Given the description of an element on the screen output the (x, y) to click on. 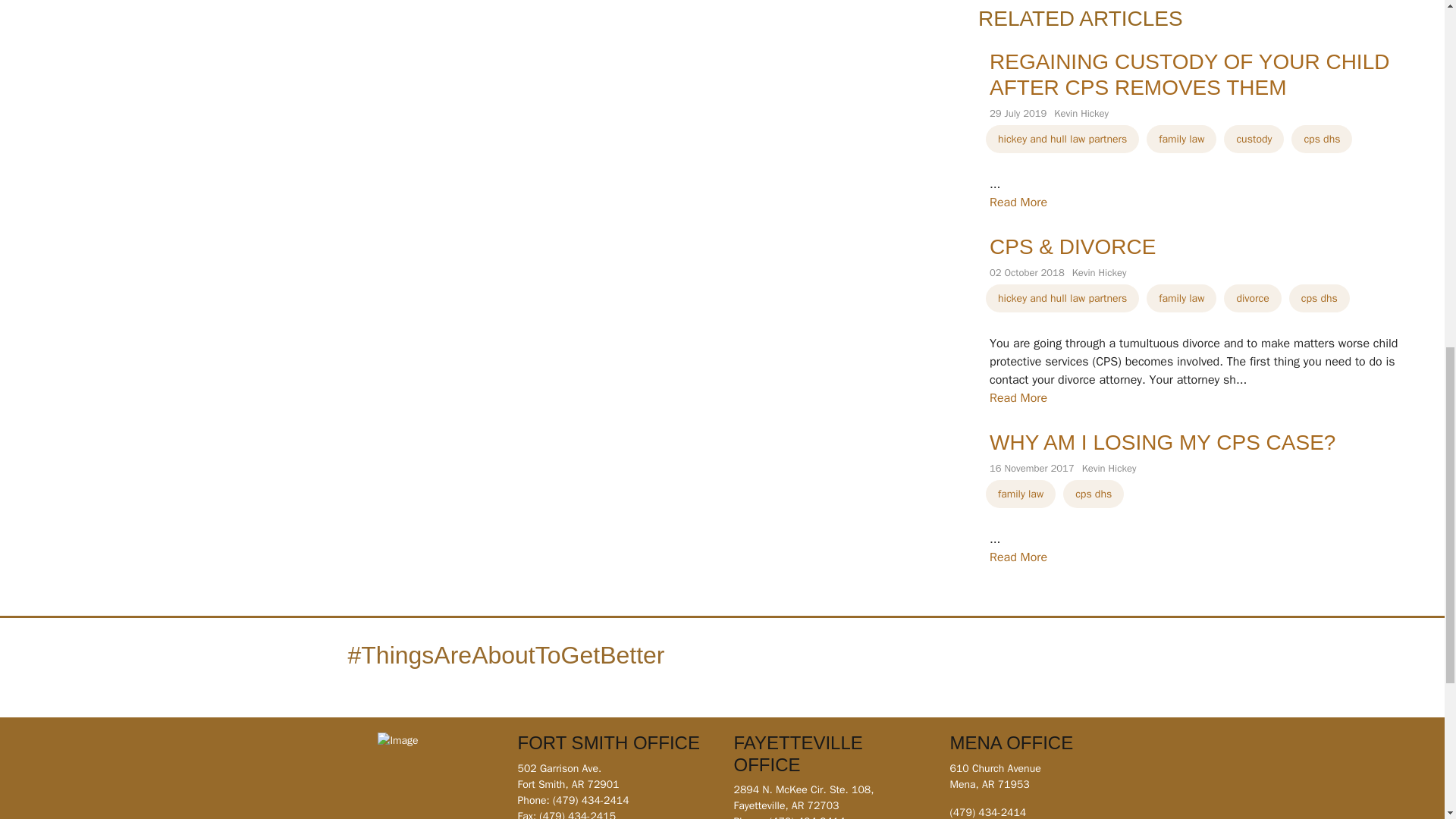
facebook (852, 664)
Twitter (925, 664)
Instagram (876, 664)
YouTube (900, 664)
